Given the description of an element on the screen output the (x, y) to click on. 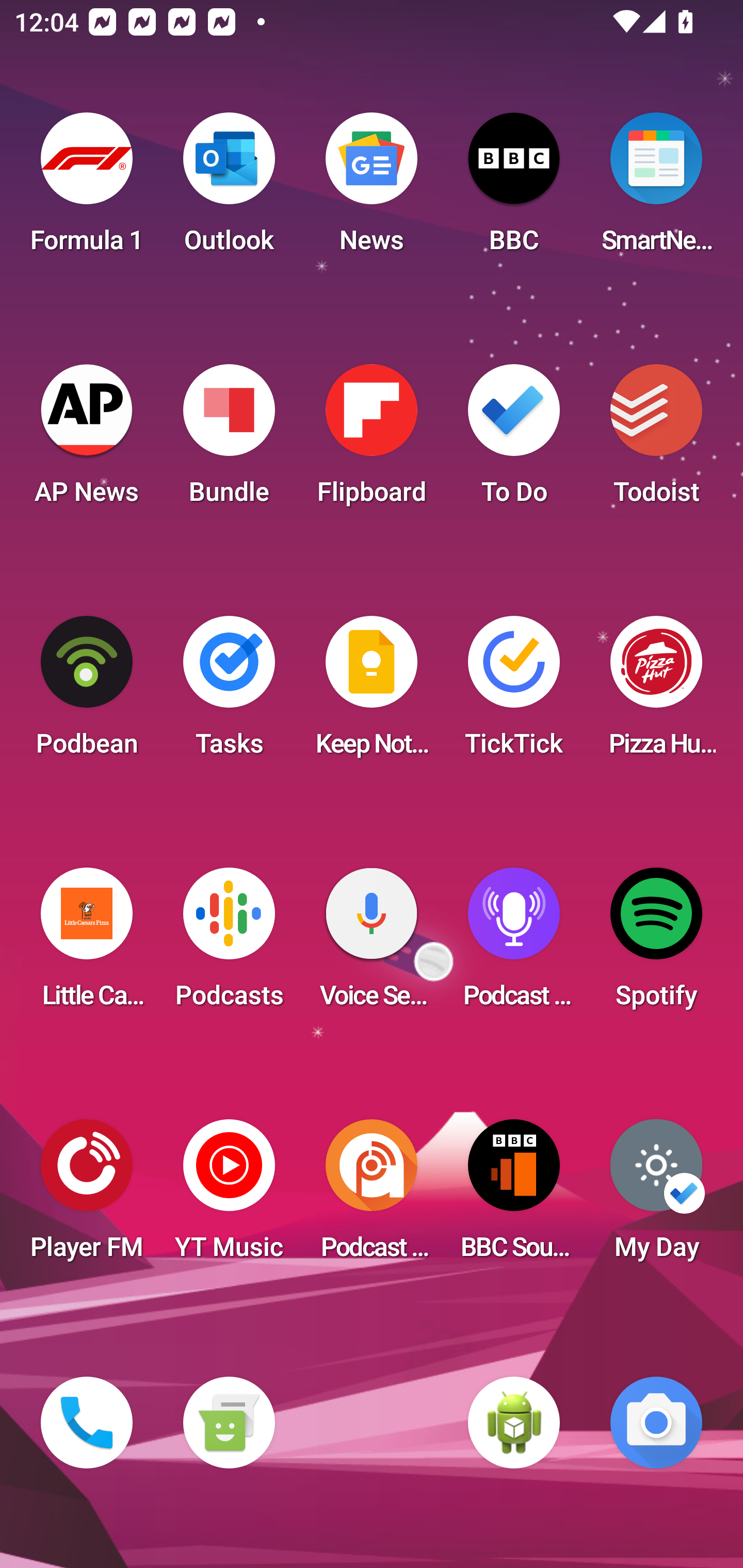
Formula 1 (86, 188)
Outlook (228, 188)
News (371, 188)
BBC (513, 188)
SmartNews (656, 188)
AP News (86, 440)
Bundle (228, 440)
Flipboard (371, 440)
To Do (513, 440)
Todoist (656, 440)
Podbean (86, 692)
Tasks (228, 692)
Keep Notes (371, 692)
TickTick (513, 692)
Pizza Hut HK & Macau (656, 692)
Little Caesars Pizza (86, 943)
Podcasts (228, 943)
Voice Search (371, 943)
Podcast Player (513, 943)
Spotify (656, 943)
Player FM (86, 1195)
YT Music (228, 1195)
Podcast Addict (371, 1195)
BBC Sounds (513, 1195)
My Day (656, 1195)
Phone (86, 1422)
Messaging (228, 1422)
WebView Browser Tester (513, 1422)
Camera (656, 1422)
